Given the description of an element on the screen output the (x, y) to click on. 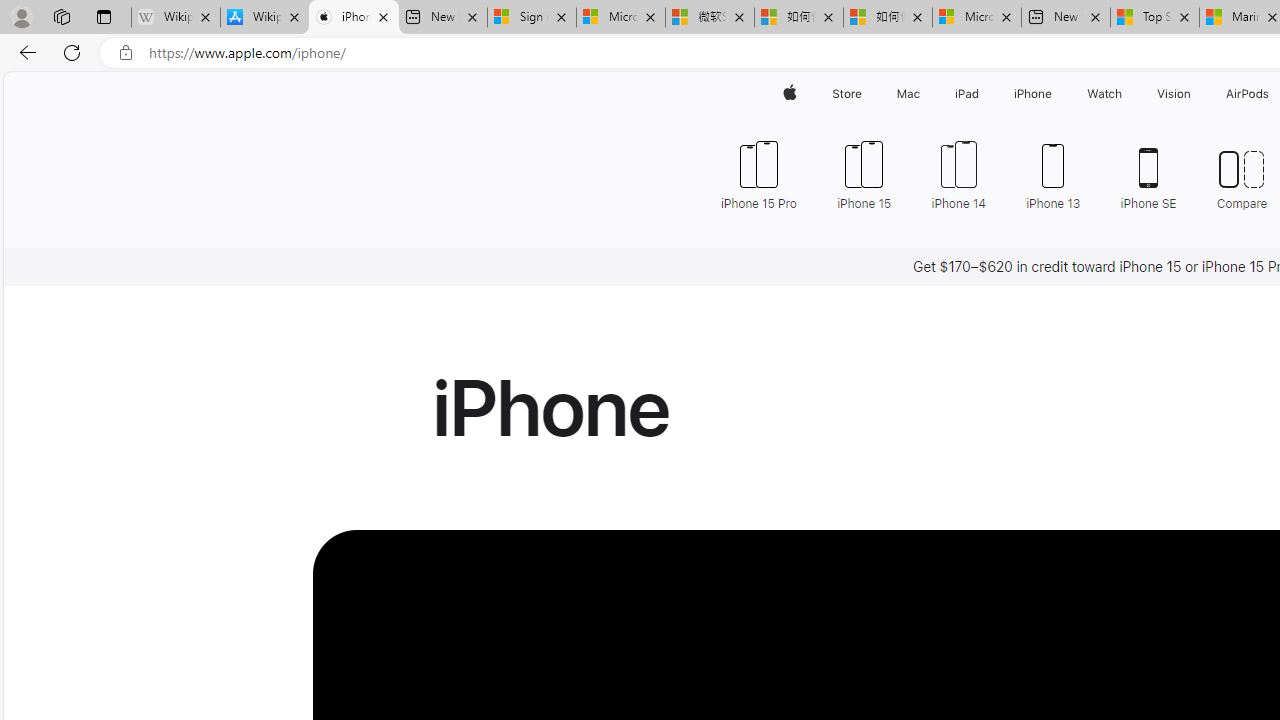
iPhone SE (1148, 173)
iPhone 15 Pro (758, 173)
iPad (965, 93)
Store menu (864, 93)
iPhone 14 (958, 173)
Vision menu (1195, 93)
Apple (789, 93)
iPad menu (982, 93)
